Given the description of an element on the screen output the (x, y) to click on. 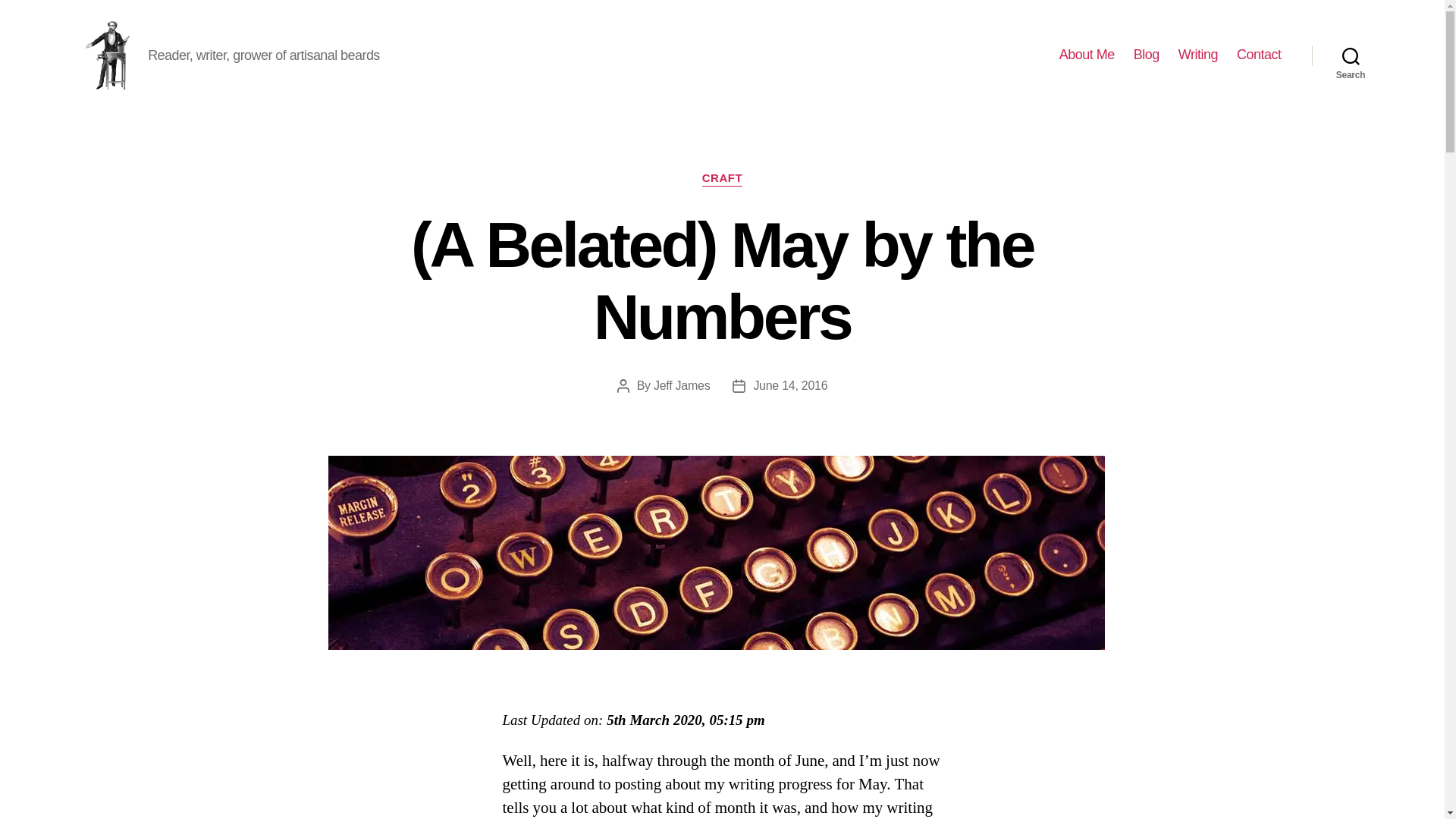
June 14, 2016 (789, 385)
Jeff James (681, 385)
Writing (1197, 54)
Blog (1146, 54)
About Me (1087, 54)
CRAFT (721, 178)
Search (1350, 55)
Contact (1258, 54)
